Given the description of an element on the screen output the (x, y) to click on. 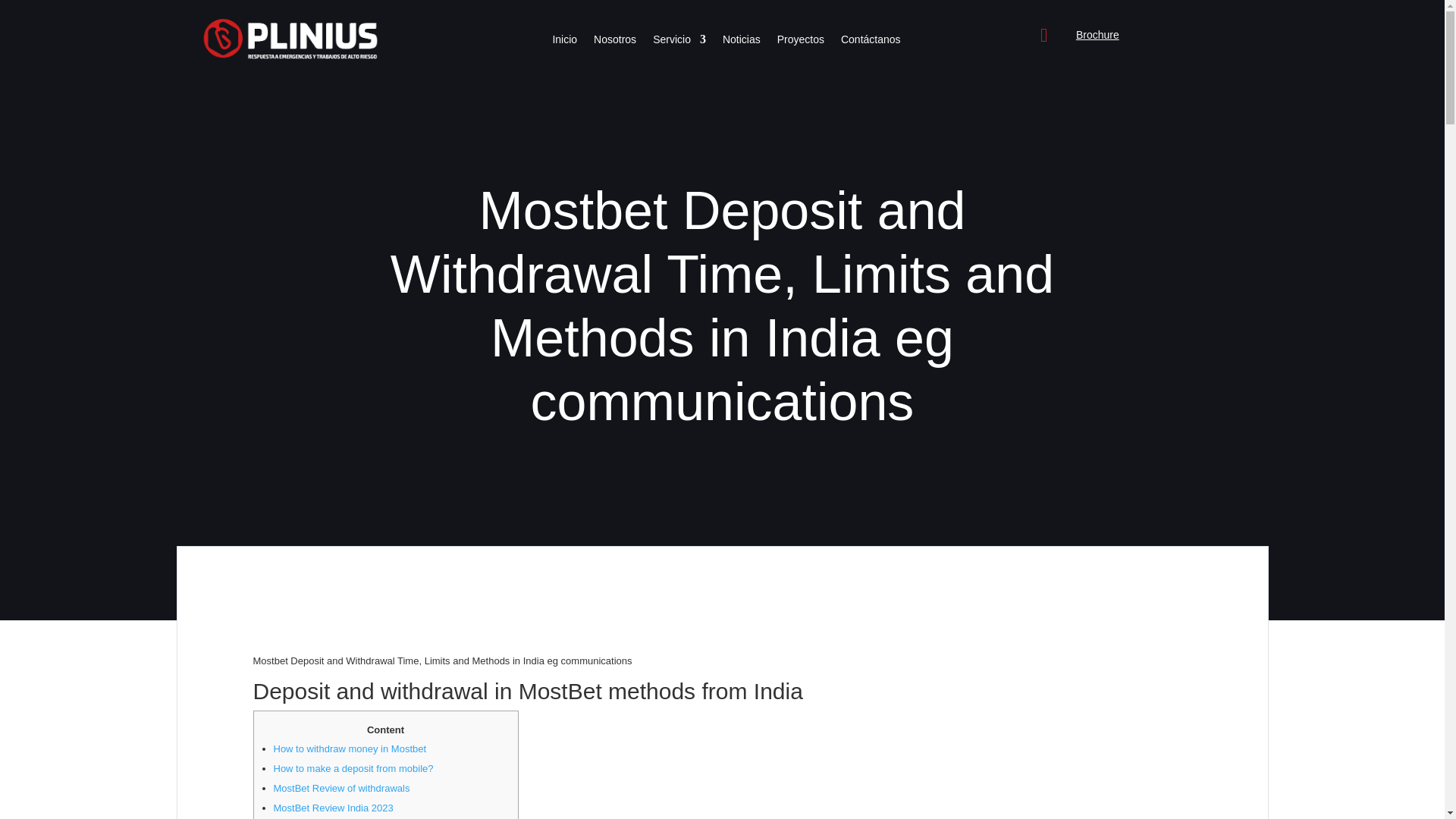
Logo-Plinius-Color-02 (290, 39)
Inicio (563, 42)
Noticias (741, 42)
Nosotros (615, 42)
Servicio (679, 42)
Proyectos (800, 42)
